Given the description of an element on the screen output the (x, y) to click on. 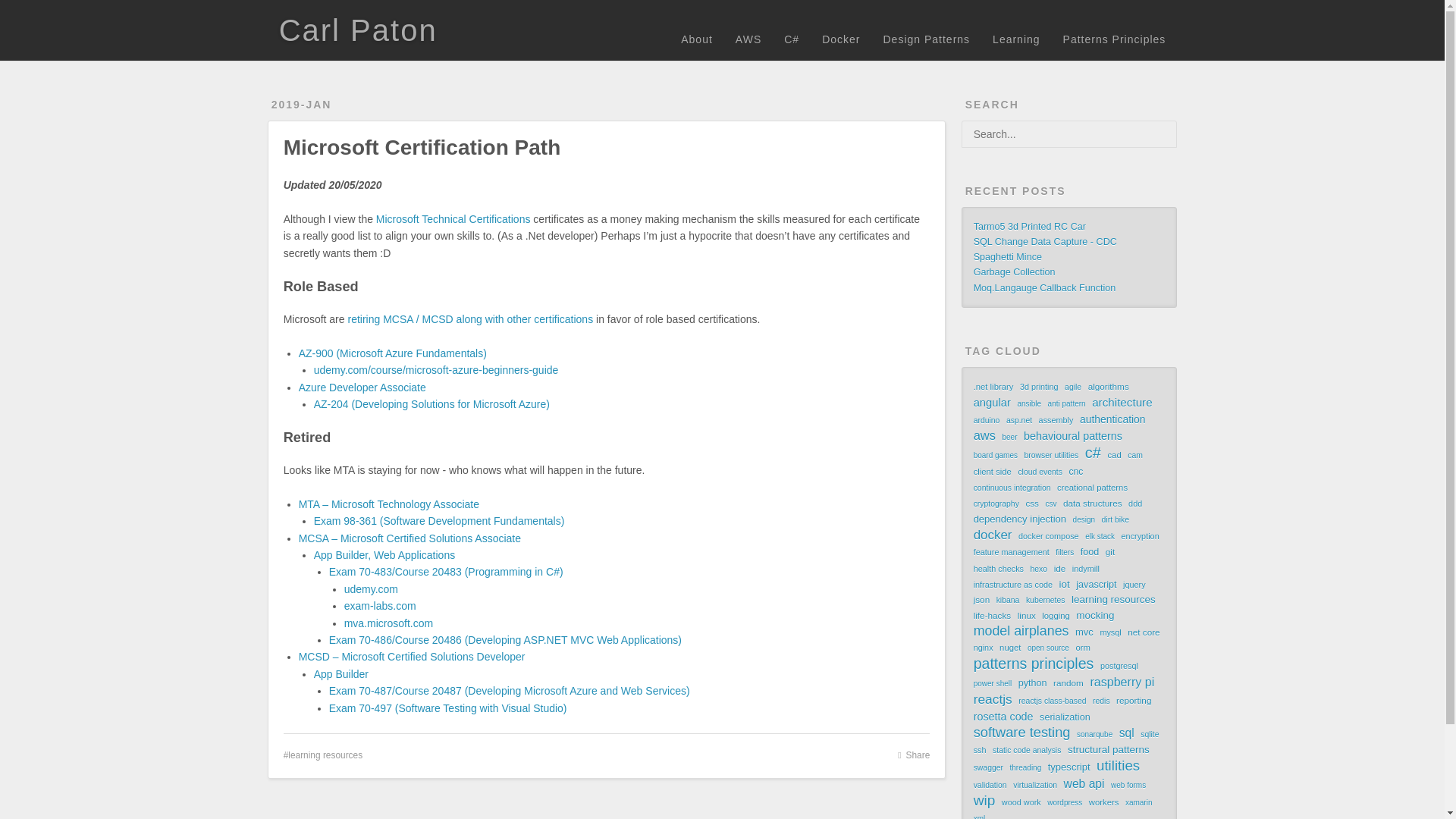
About (696, 39)
Azure Developer Associate (362, 386)
Design Patterns (925, 39)
App Builder (341, 674)
udemy.com (370, 589)
Patterns Principles (1114, 39)
Carl Paton (357, 30)
AWS (748, 39)
There are no silly questions (357, 30)
Microsoft Technical Certifications (453, 218)
mva.microsoft.com (387, 623)
exam-labs.com (379, 605)
Docker (840, 39)
2019-JAN (300, 104)
Share (914, 755)
